Given the description of an element on the screen output the (x, y) to click on. 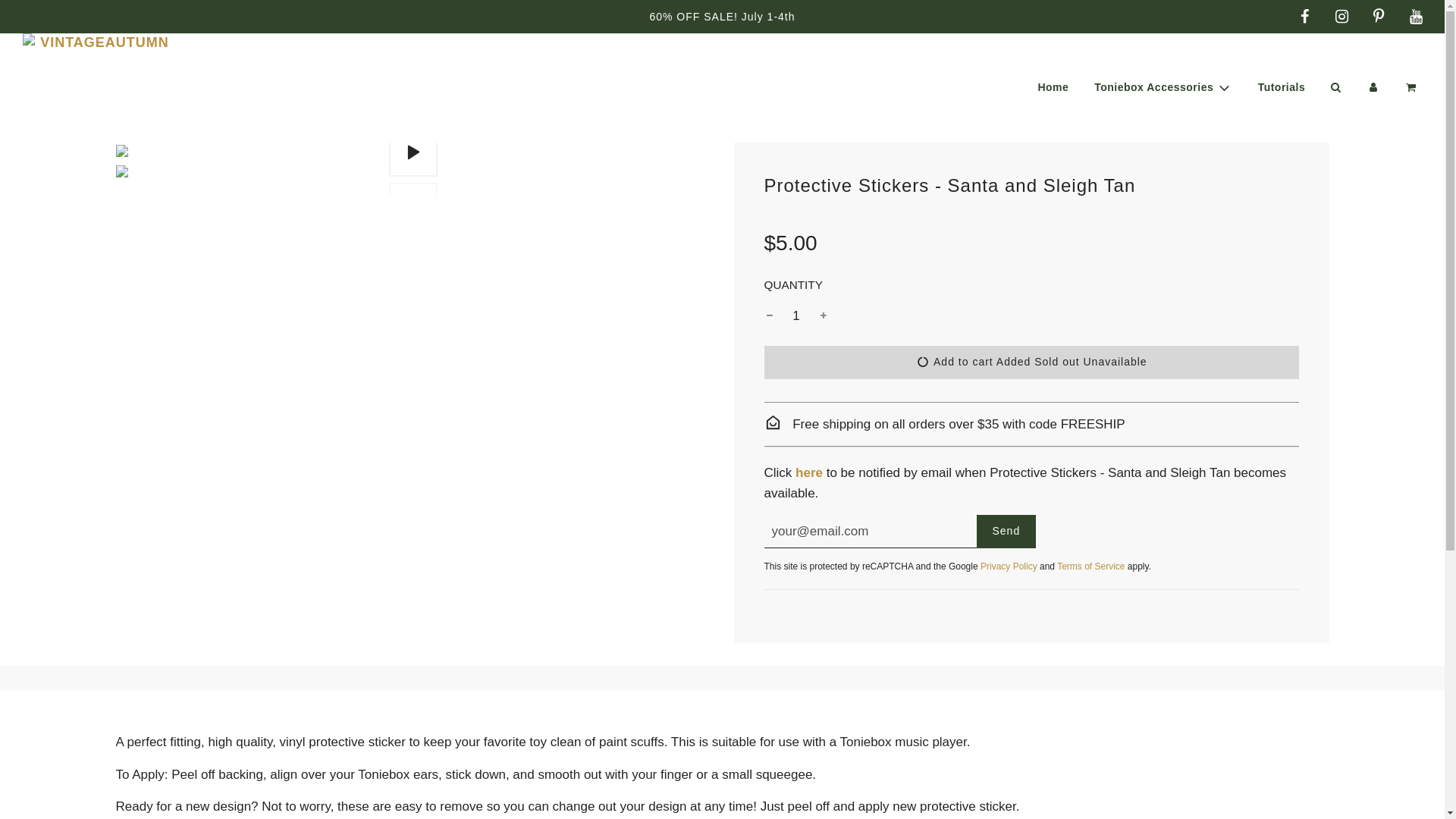
Tutorials (1281, 87)
Privacy Policy (1007, 566)
here (808, 472)
Terms of Service (1090, 566)
Toniebox Accessories (1031, 362)
Send (1163, 87)
Home (1006, 531)
Send (1053, 87)
1 (1006, 531)
Log in (796, 316)
